Given the description of an element on the screen output the (x, y) to click on. 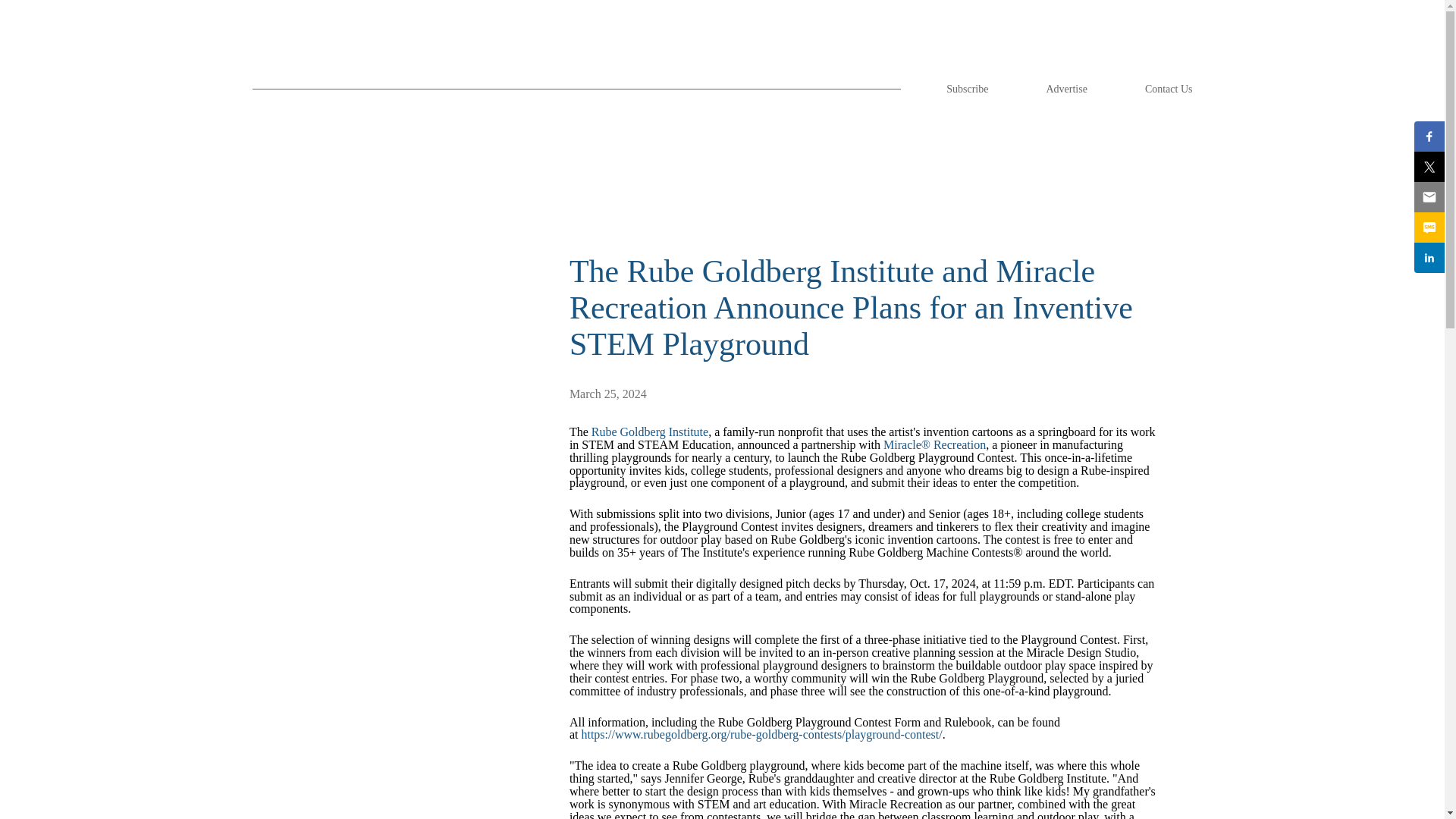
3rd party ad content (373, 790)
3rd party ad content (722, 785)
Advertise (1065, 89)
Contact Us (1168, 89)
Subscribe (967, 89)
3rd party ad content (722, 173)
